Given the description of an element on the screen output the (x, y) to click on. 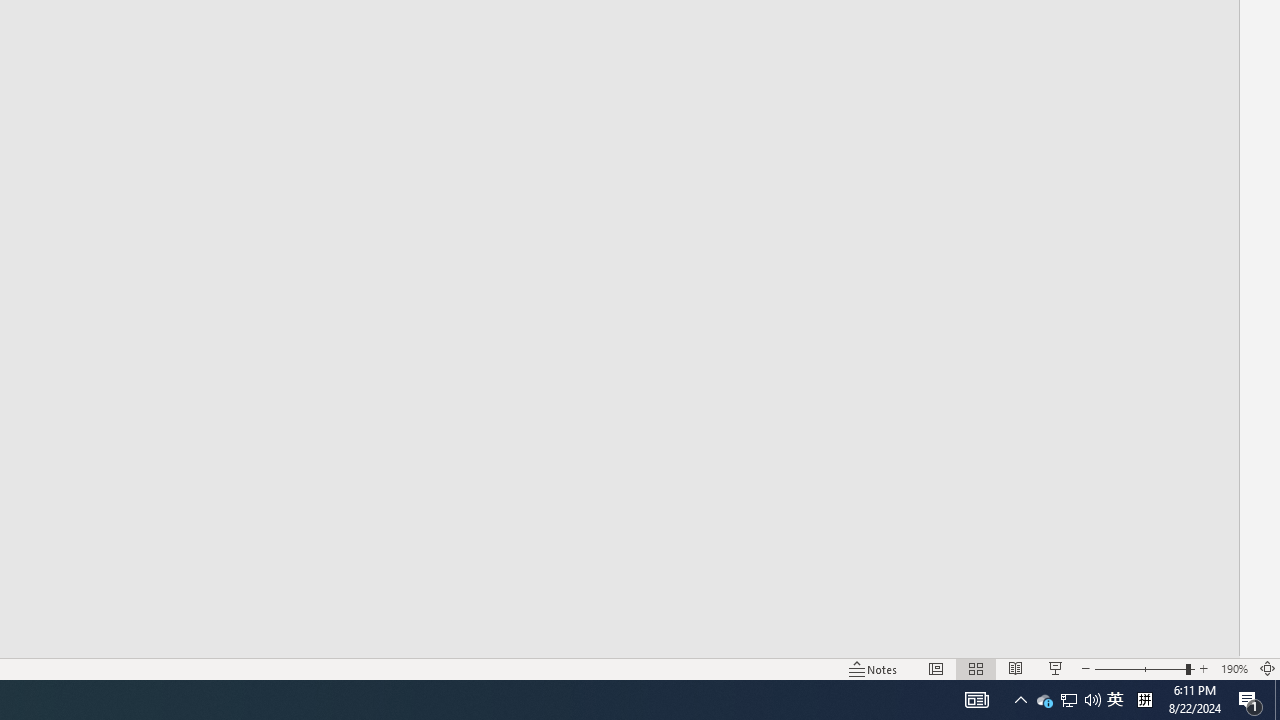
Zoom 190% (1234, 668)
